Given the description of an element on the screen output the (x, y) to click on. 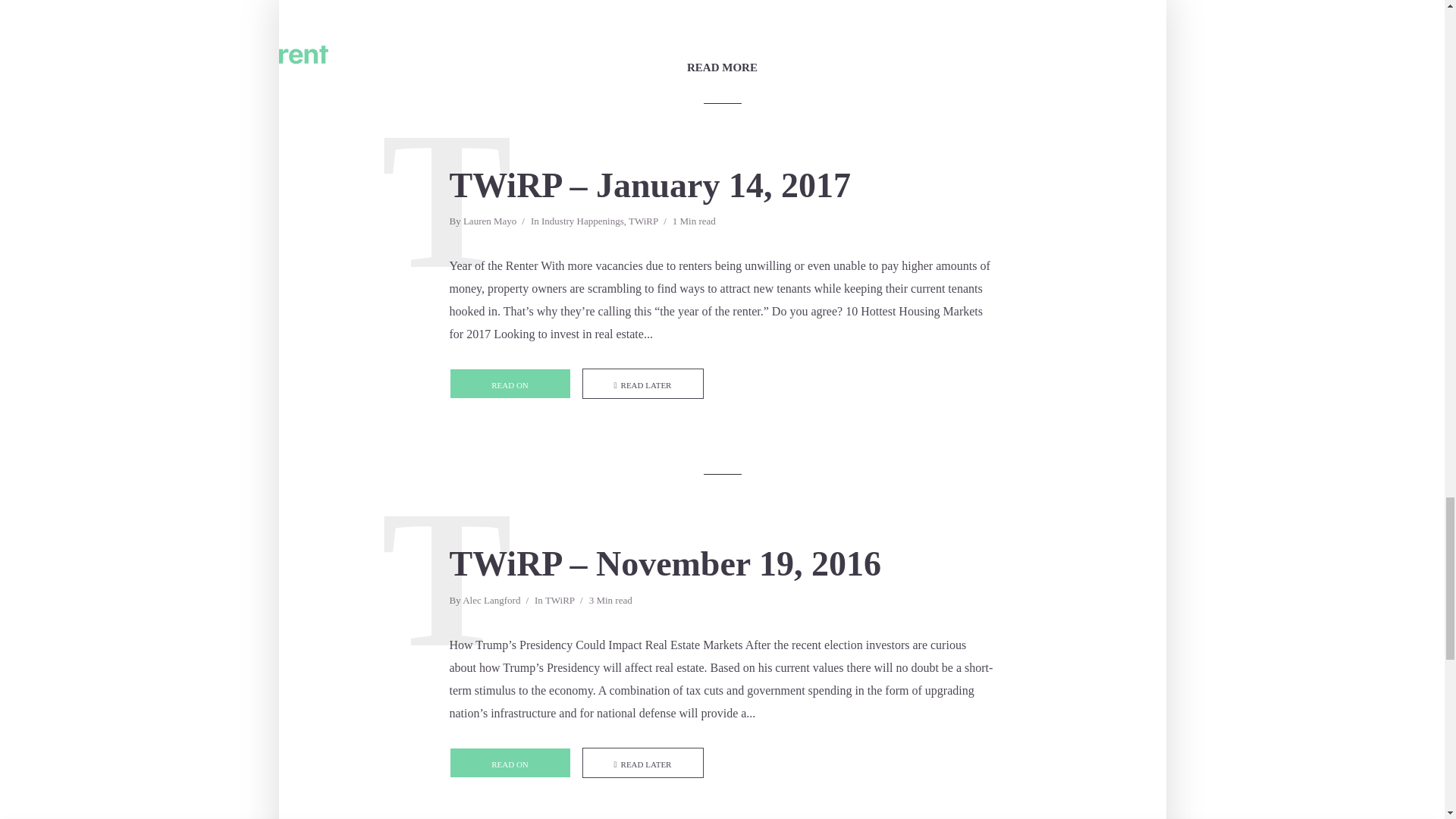
Lauren Mayo (489, 222)
READ LATER (642, 383)
Alec Langford (491, 601)
Industry Happenings (582, 222)
TWiRP (643, 222)
TWiRP (559, 601)
READ ON (509, 383)
